Given the description of an element on the screen output the (x, y) to click on. 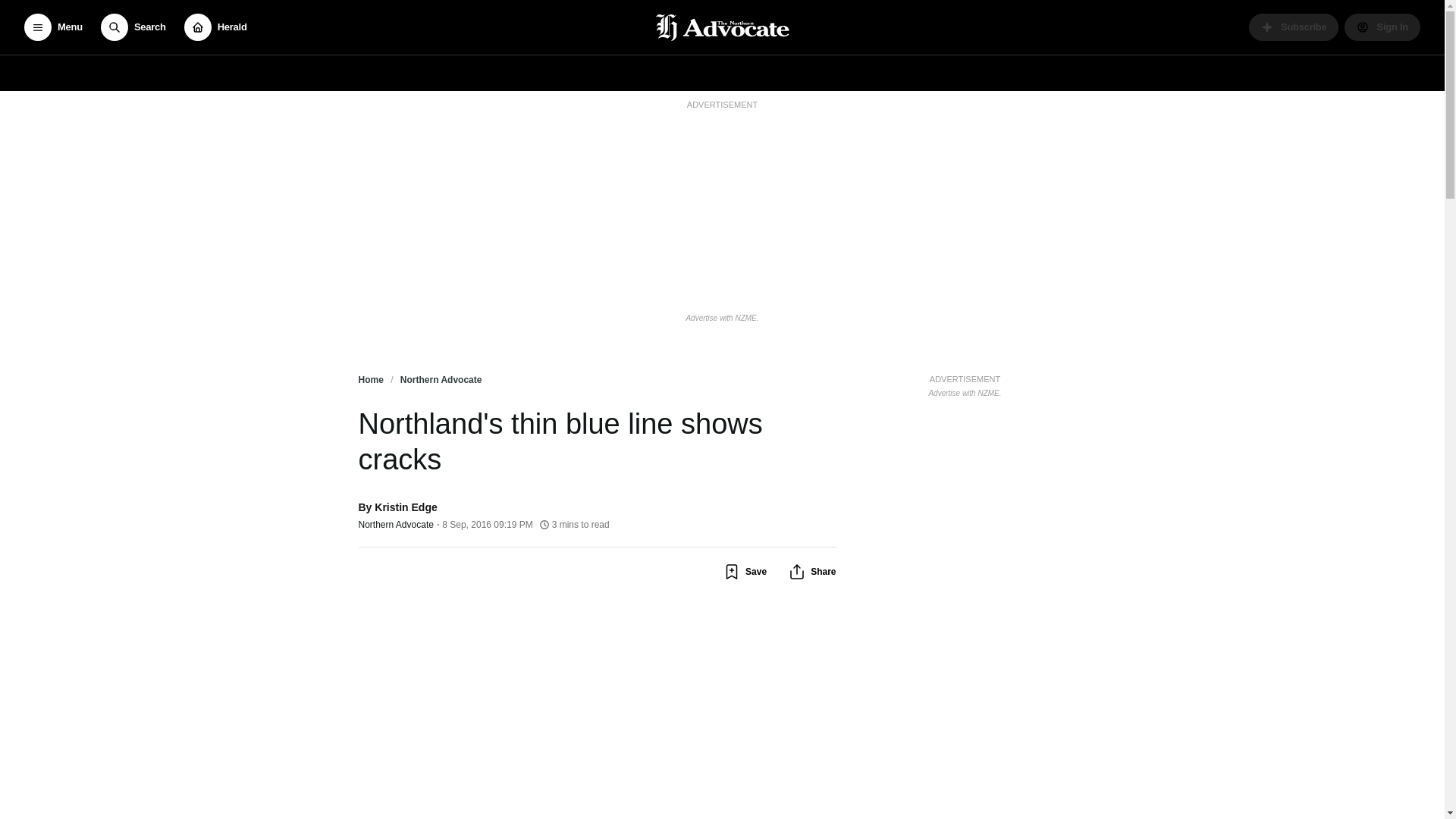
Sign In (1382, 26)
Herald (215, 26)
Manage your account (1382, 26)
Subscribe (1294, 26)
Menu (53, 26)
Search (132, 26)
